Given the description of an element on the screen output the (x, y) to click on. 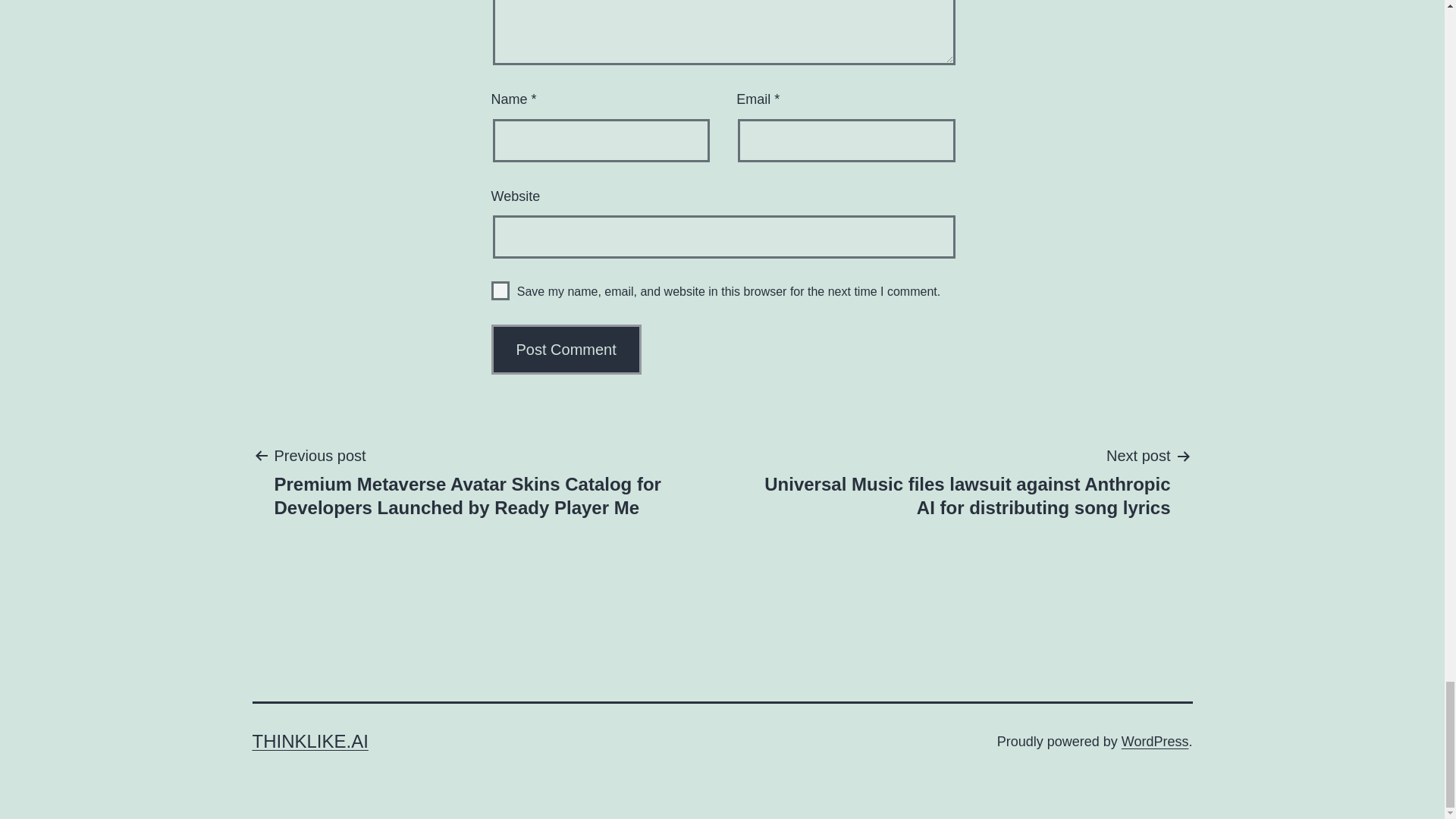
WordPress (1155, 741)
Post Comment (567, 349)
Post Comment (567, 349)
yes (500, 290)
THINKLIKE.AI (309, 741)
